Given the description of an element on the screen output the (x, y) to click on. 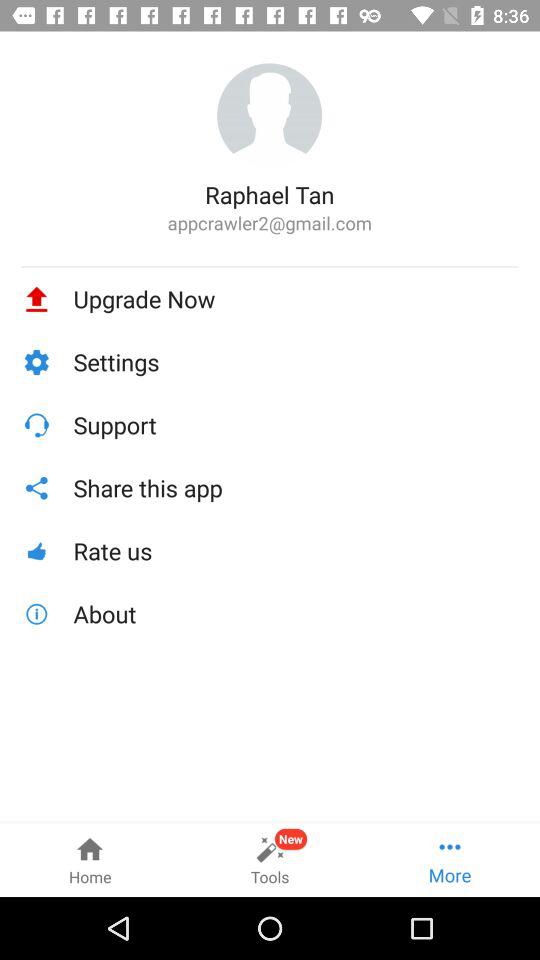
turn on raphael tan icon (269, 194)
